Given the description of an element on the screen output the (x, y) to click on. 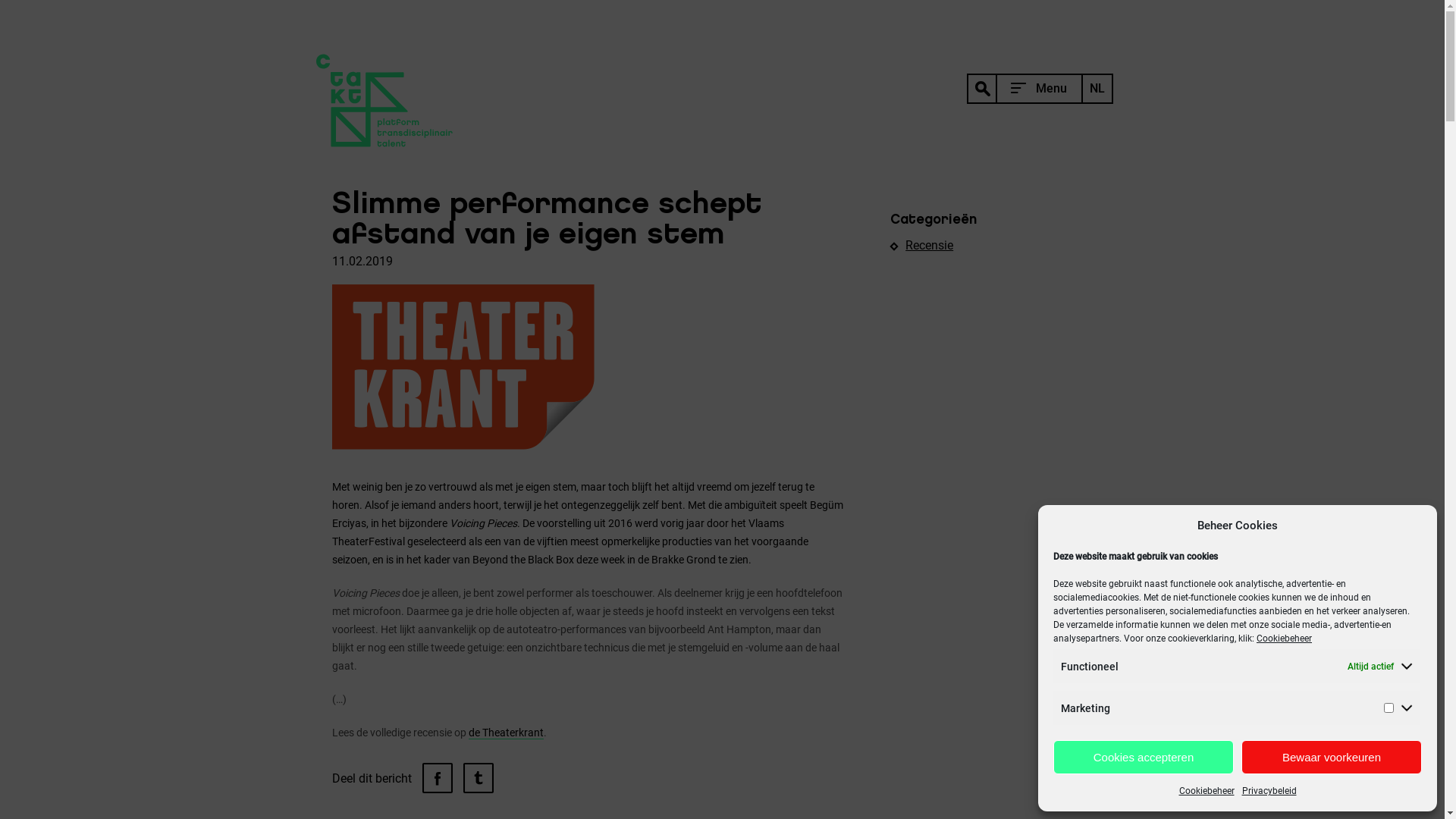
Zoeken Element type: text (818, 161)
deel op facebook Element type: text (436, 777)
Bewaar voorkeuren Element type: text (1331, 757)
deel op tumblr Element type: text (477, 777)
Menu Element type: text (1024, 88)
Privacybeleid Element type: text (1269, 790)
Cookies accepteren Element type: text (1143, 757)
Recensie Element type: text (929, 245)
NL Element type: text (1097, 88)
Cookiebeheer Element type: text (1205, 790)
Cookiebeheer Element type: text (1283, 638)
de Theaterkrant Element type: text (505, 732)
